Given the description of an element on the screen output the (x, y) to click on. 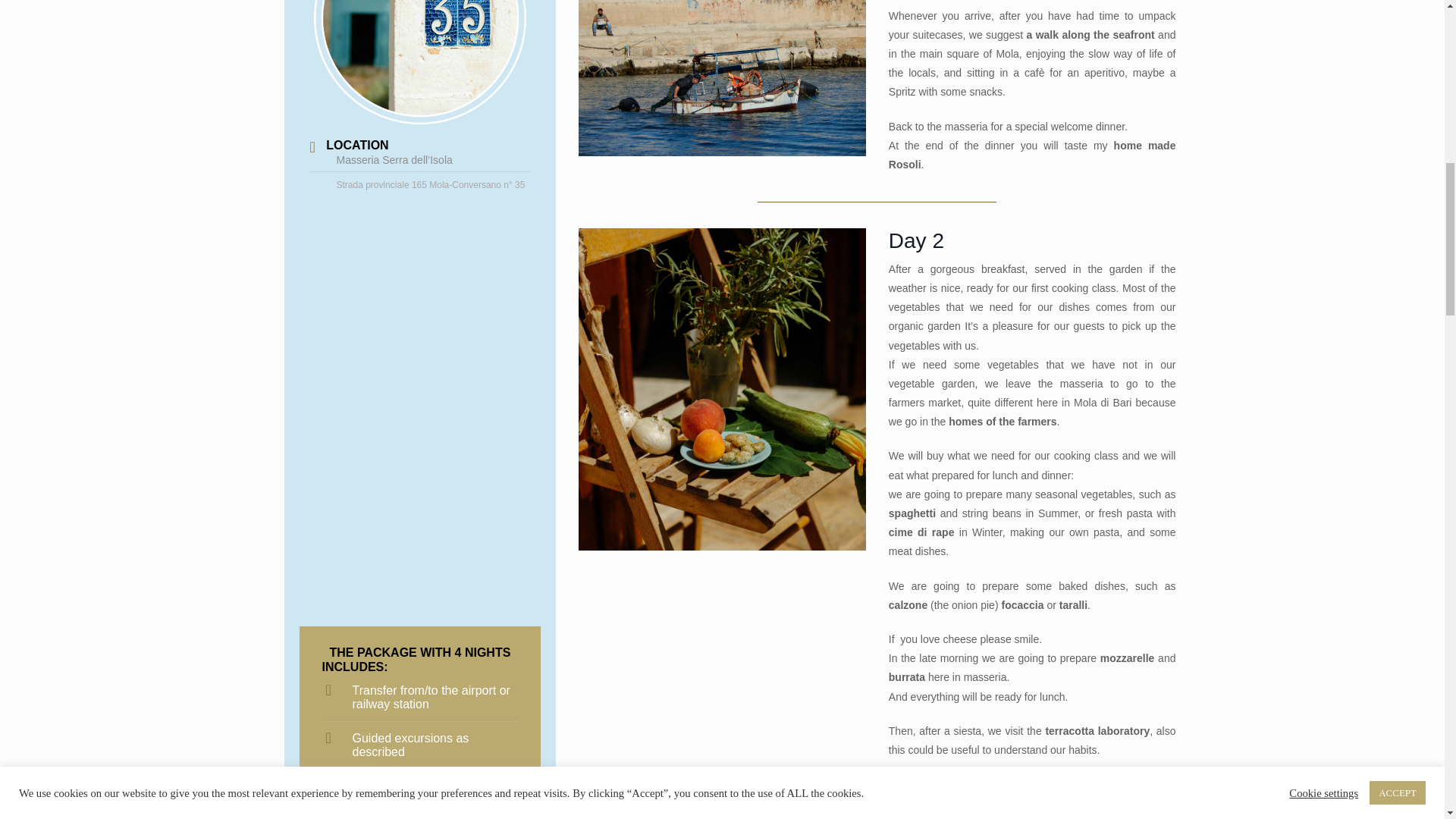
seggiolina (722, 389)
barchetta-sul-molo (722, 78)
